Given the description of an element on the screen output the (x, y) to click on. 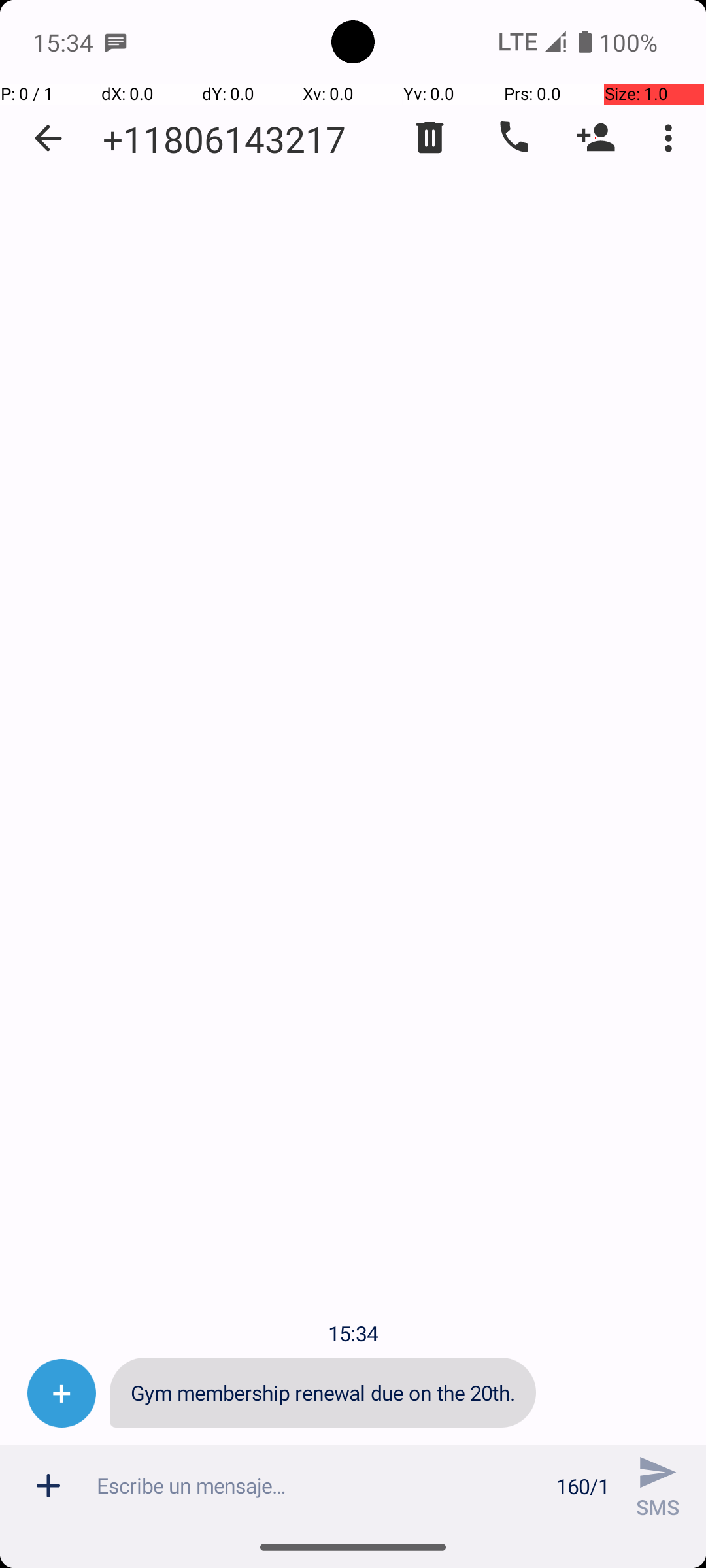
Atrás Element type: android.widget.ImageButton (48, 138)
+11806143217 Element type: android.widget.TextView (223, 138)
Eliminar Element type: android.widget.Button (429, 137)
Marcar número Element type: android.widget.Button (512, 137)
Añadir persona Element type: android.widget.Button (595, 137)
Archivo adjunto Element type: android.widget.ImageView (48, 1485)
Escribe un mensaje… Element type: android.widget.EditText (318, 1485)
160/1 Element type: android.widget.TextView (582, 1485)
Gym membership renewal due on the 20th. Element type: android.widget.TextView (322, 1392)
